Given the description of an element on the screen output the (x, y) to click on. 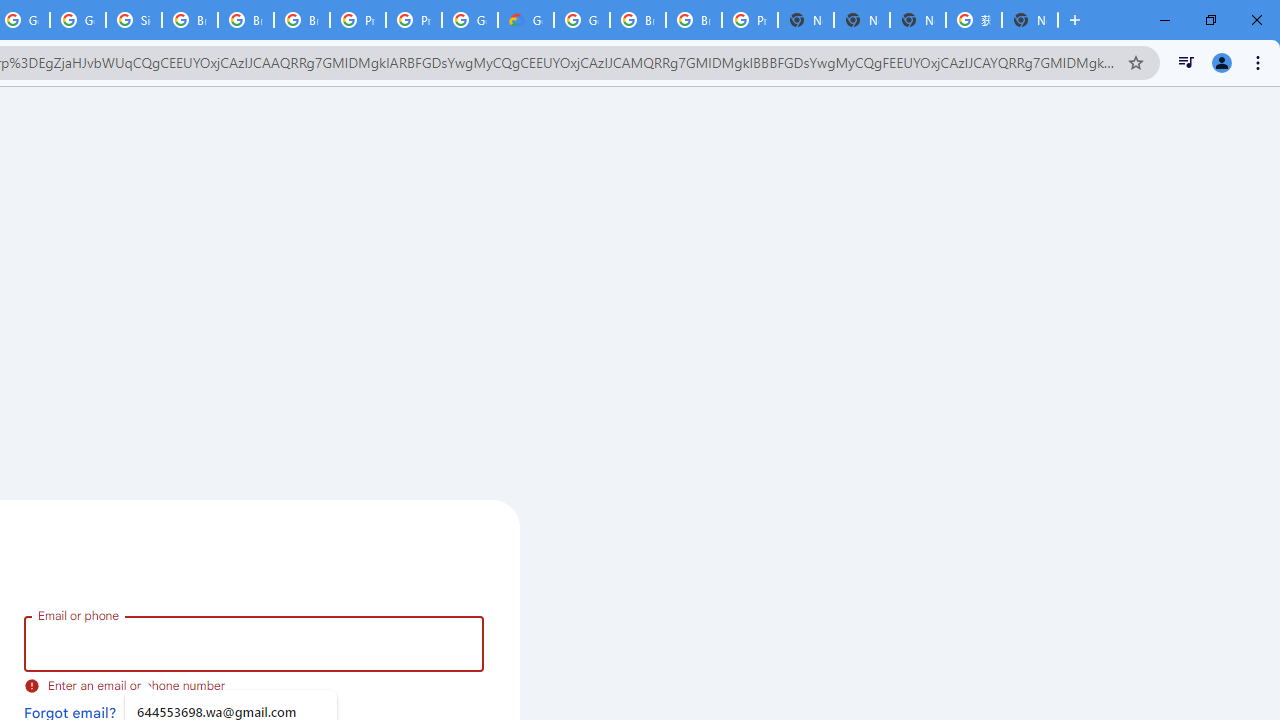
Email or phone (253, 643)
Google Cloud Platform (469, 20)
Browse Chrome as a guest - Computer - Google Chrome Help (245, 20)
Google Cloud Estimate Summary (525, 20)
New Tab (806, 20)
